Given the description of an element on the screen output the (x, y) to click on. 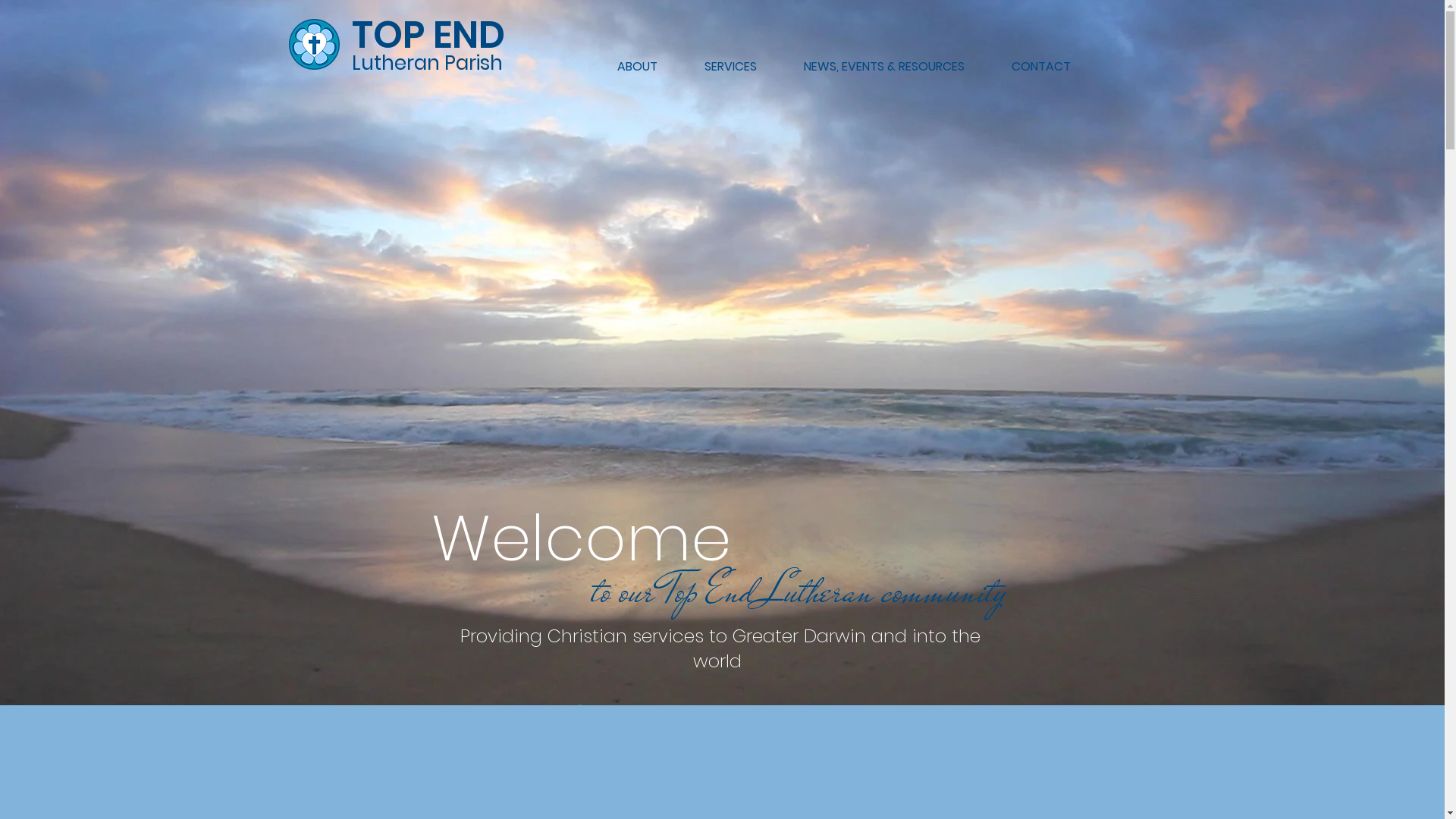
NEWS, EVENTS & RESOURCES Element type: text (883, 66)
CONTACT Element type: text (1040, 66)
ABOUT Element type: text (636, 66)
Lutheran Parish Element type: text (426, 62)
TOP END Element type: text (428, 34)
SERVICES Element type: text (730, 66)
